Given the description of an element on the screen output the (x, y) to click on. 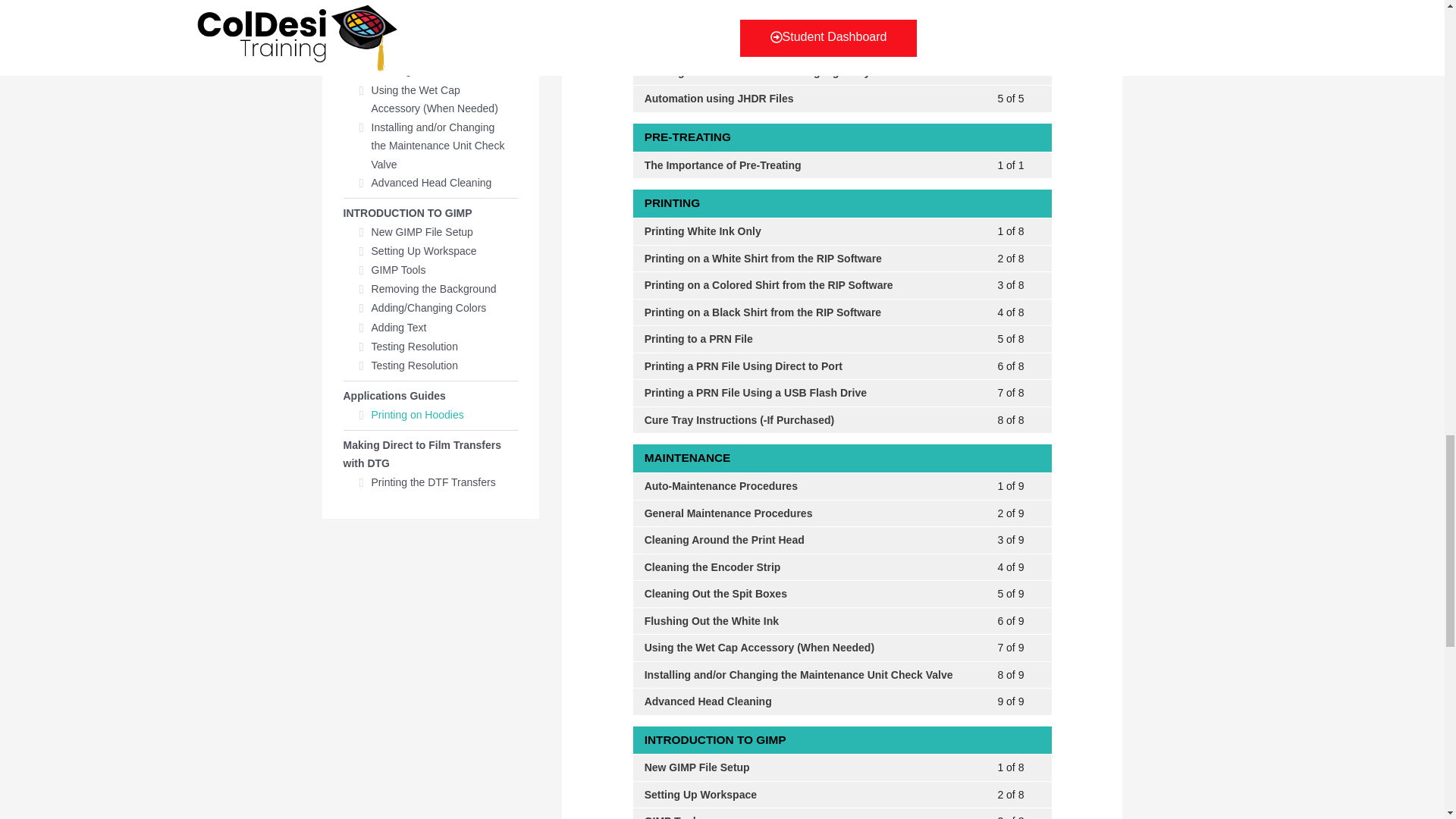
Printing on Hoodies (842, 2)
